Given the description of an element on the screen output the (x, y) to click on. 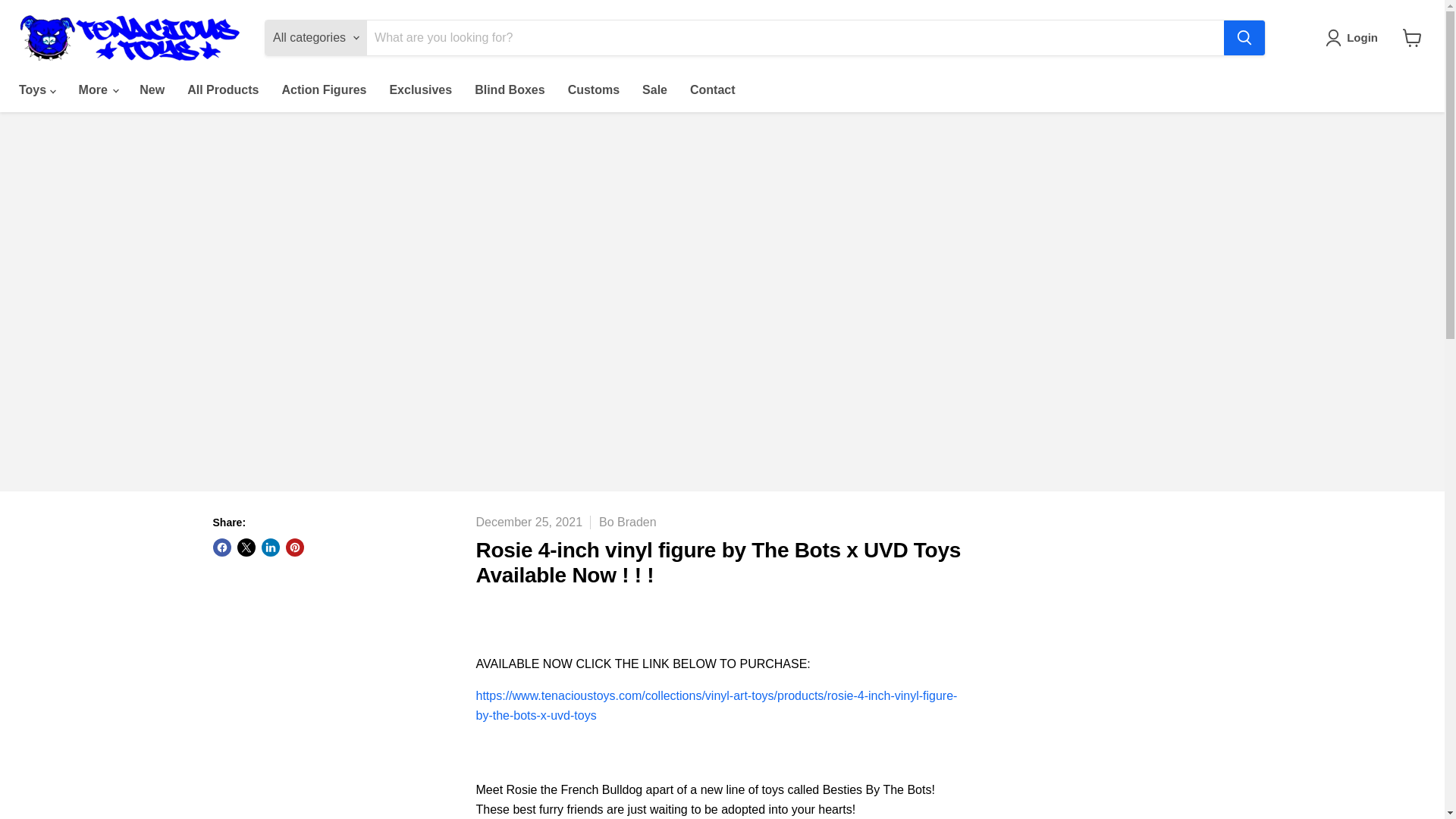
View cart (1411, 37)
Login (1354, 37)
rosie (717, 705)
